Given the description of an element on the screen output the (x, y) to click on. 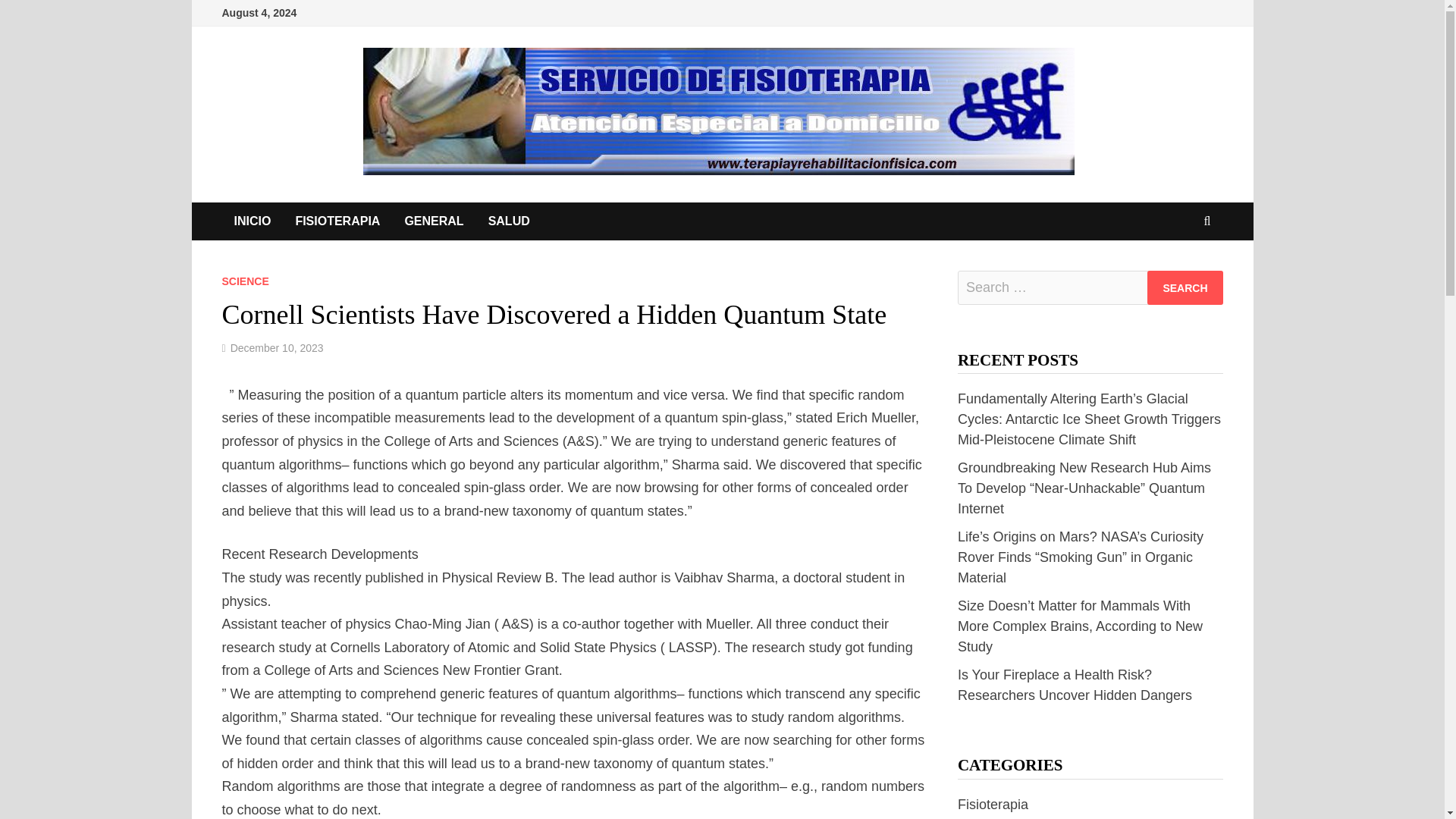
SCIENCE (244, 281)
Search (1185, 287)
December 10, 2023 (276, 347)
Fisioterapia (992, 804)
SALUD (508, 221)
GENERAL (433, 221)
INICIO (251, 221)
Search (1185, 287)
Search (1185, 287)
FISIOTERAPIA (336, 221)
